Given the description of an element on the screen output the (x, y) to click on. 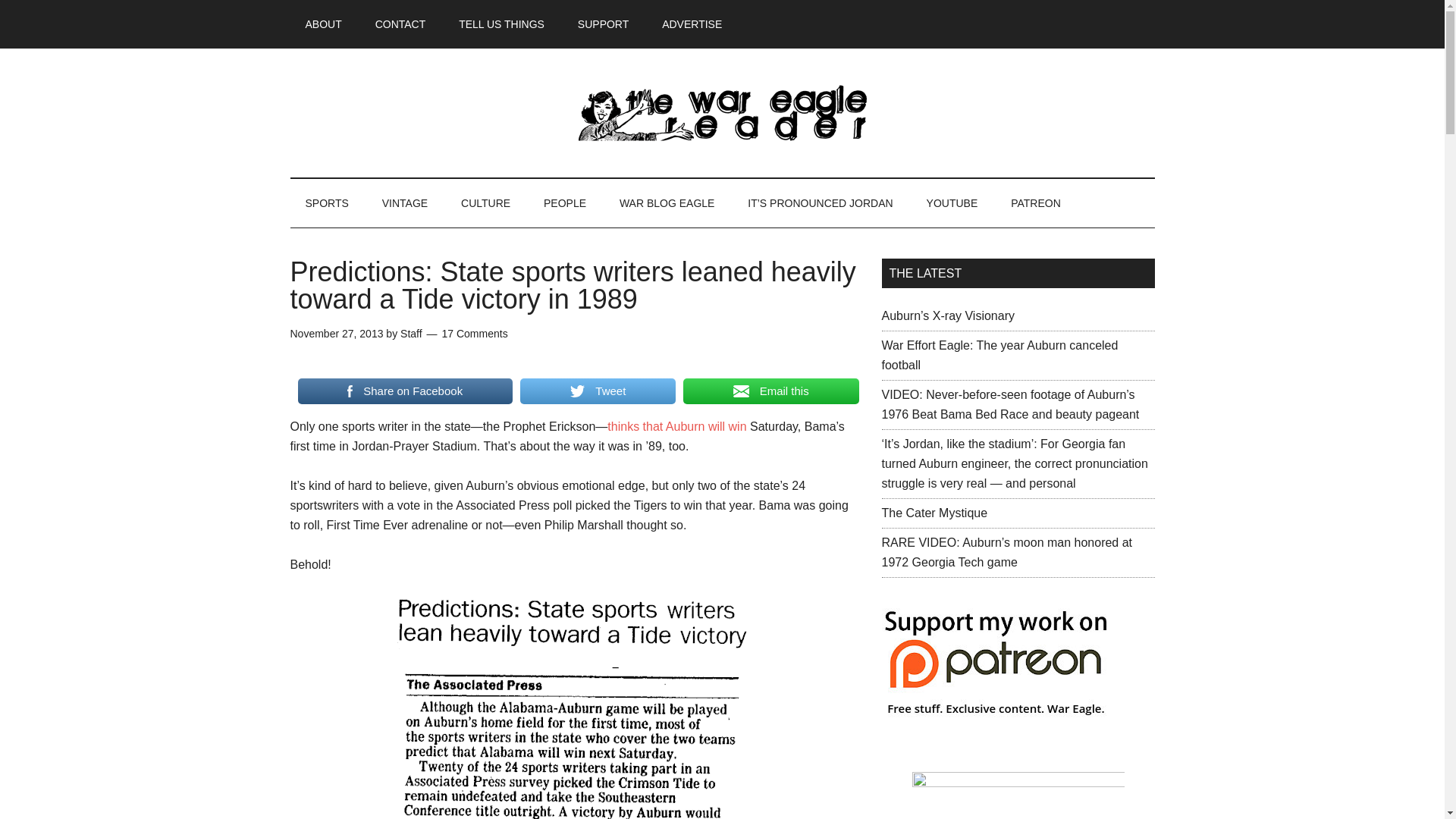
VINTAGE (404, 203)
ABOUT (322, 24)
17 Comments (473, 333)
YOUTUBE (951, 203)
SUPPORT (602, 24)
CONTACT (400, 24)
WAR BLOG EAGLE (667, 203)
The War Eagle Reader (721, 112)
CULTURE (485, 203)
Share on Facebook (404, 390)
Email this (770, 390)
Tweet (597, 390)
thinks that Auburn will win (676, 426)
TELL US THINGS (501, 24)
